Given the description of an element on the screen output the (x, y) to click on. 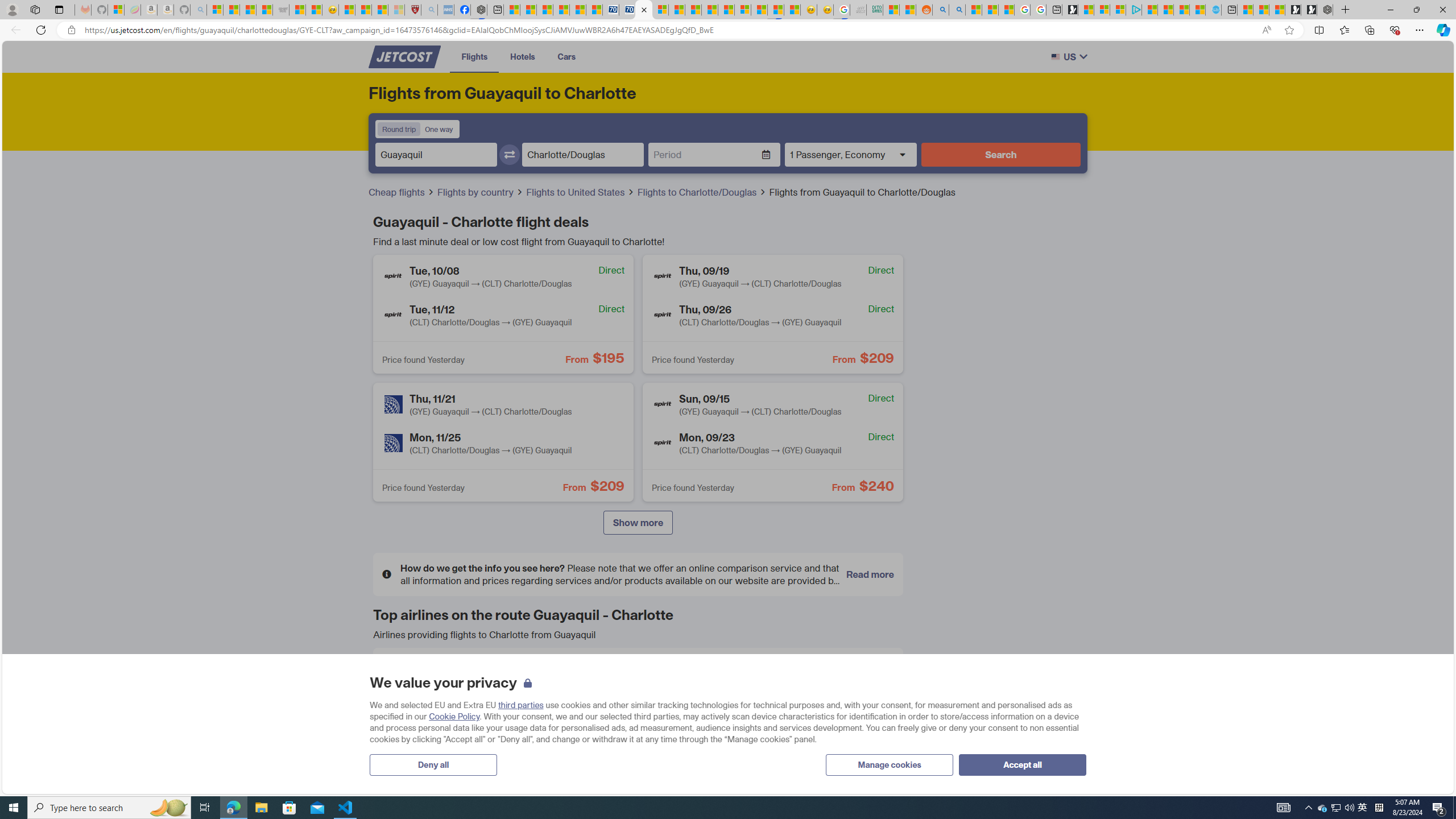
Flights by country (475, 191)
Hotels (522, 56)
LATAM LATAM (638, 716)
Copa Airlines Copa Airlines (809, 675)
LATAM (572, 715)
Cars (566, 56)
